Given the description of an element on the screen output the (x, y) to click on. 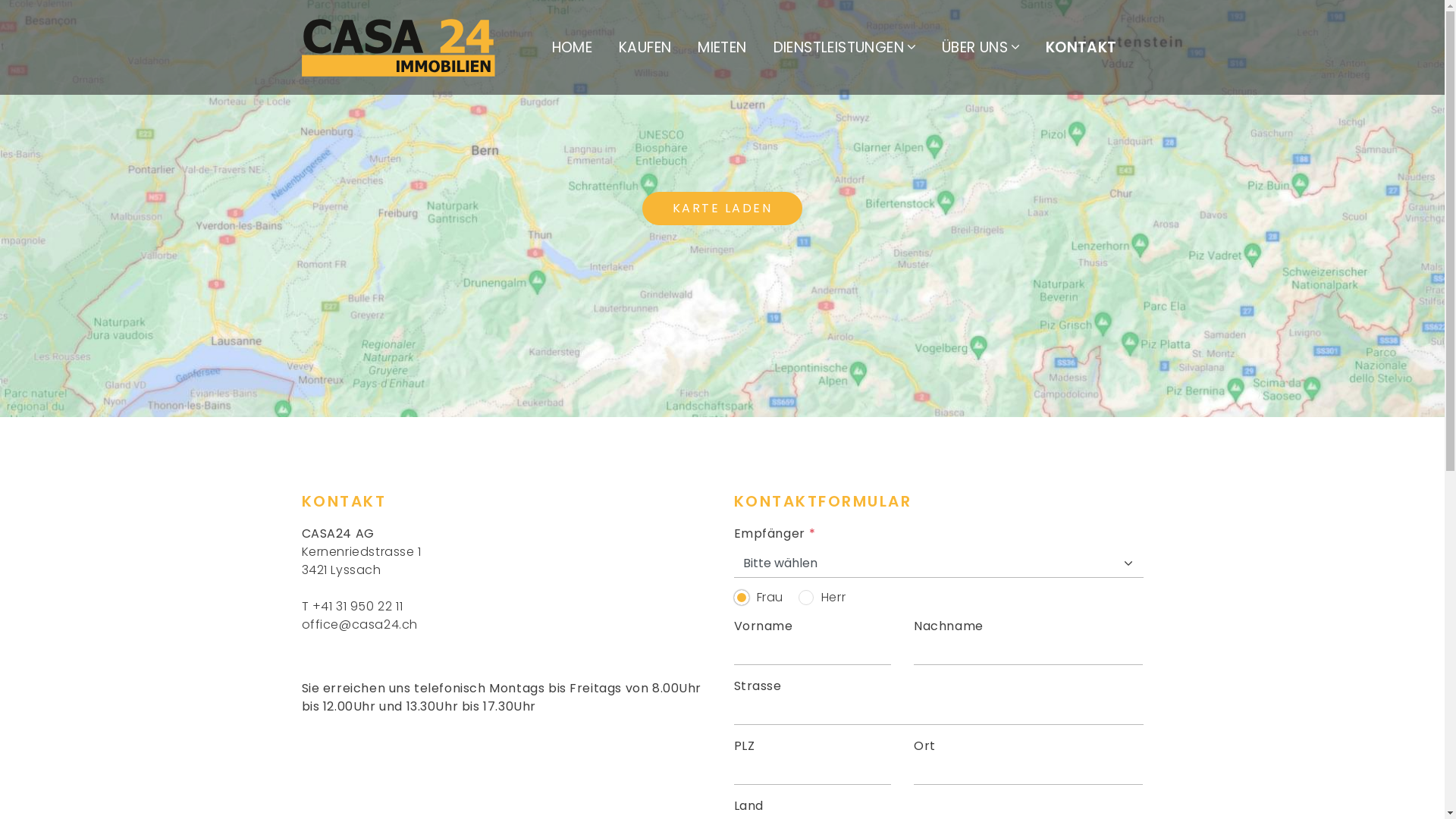
HOME Element type: text (572, 47)
office@casa24.ch Element type: text (359, 624)
KAUFEN Element type: text (644, 47)
KARTE LADEN Element type: text (722, 208)
MIETEN Element type: text (721, 47)
KONTAKT Element type: text (1081, 47)
DIENSTLEISTUNGEN Element type: text (844, 47)
